Given the description of an element on the screen output the (x, y) to click on. 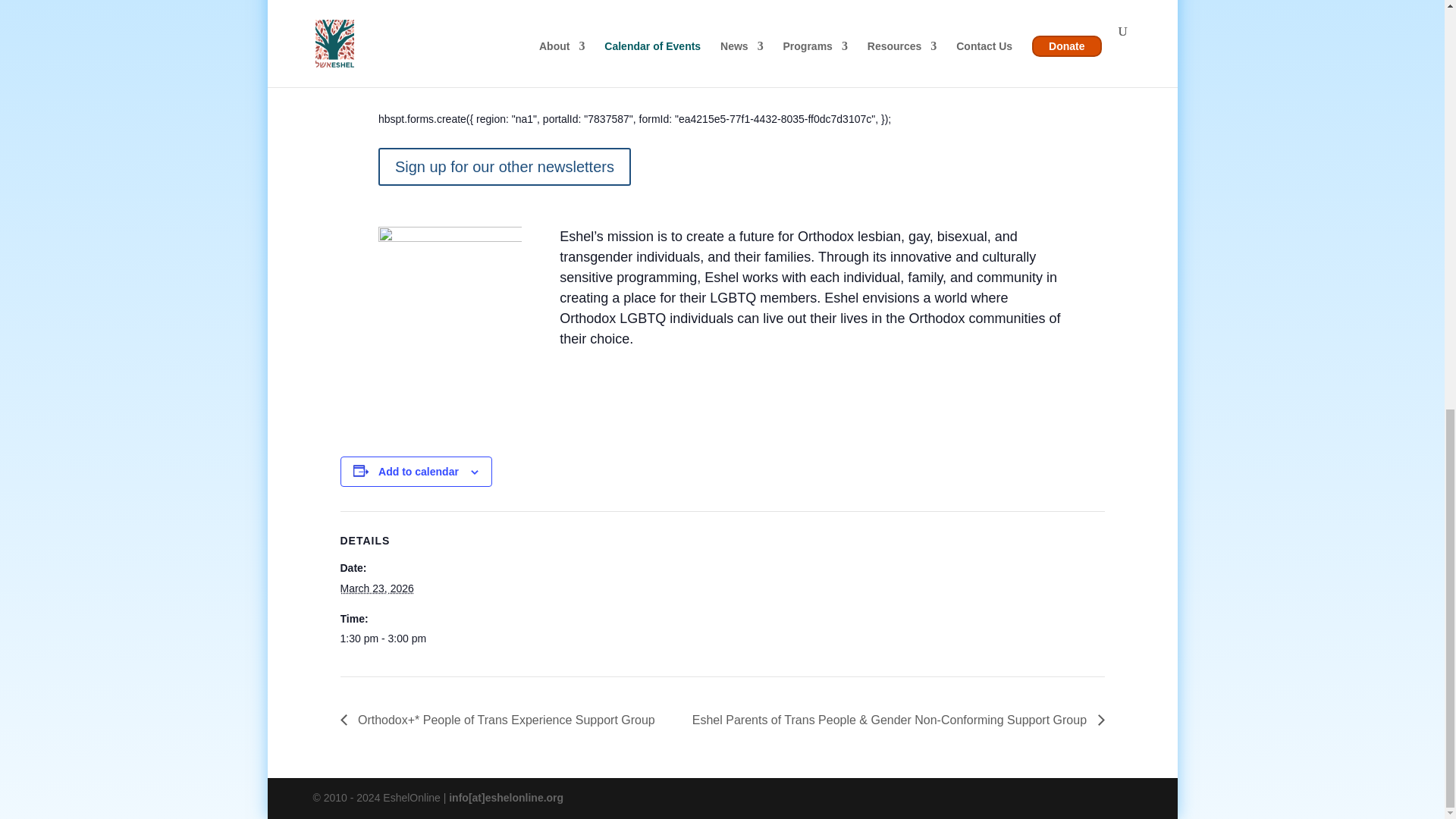
eshel-logo (449, 278)
Add to calendar (418, 471)
2026-03-23 (403, 638)
Sign up for our other newsletters (504, 166)
2026-03-23 (376, 588)
